Given the description of an element on the screen output the (x, y) to click on. 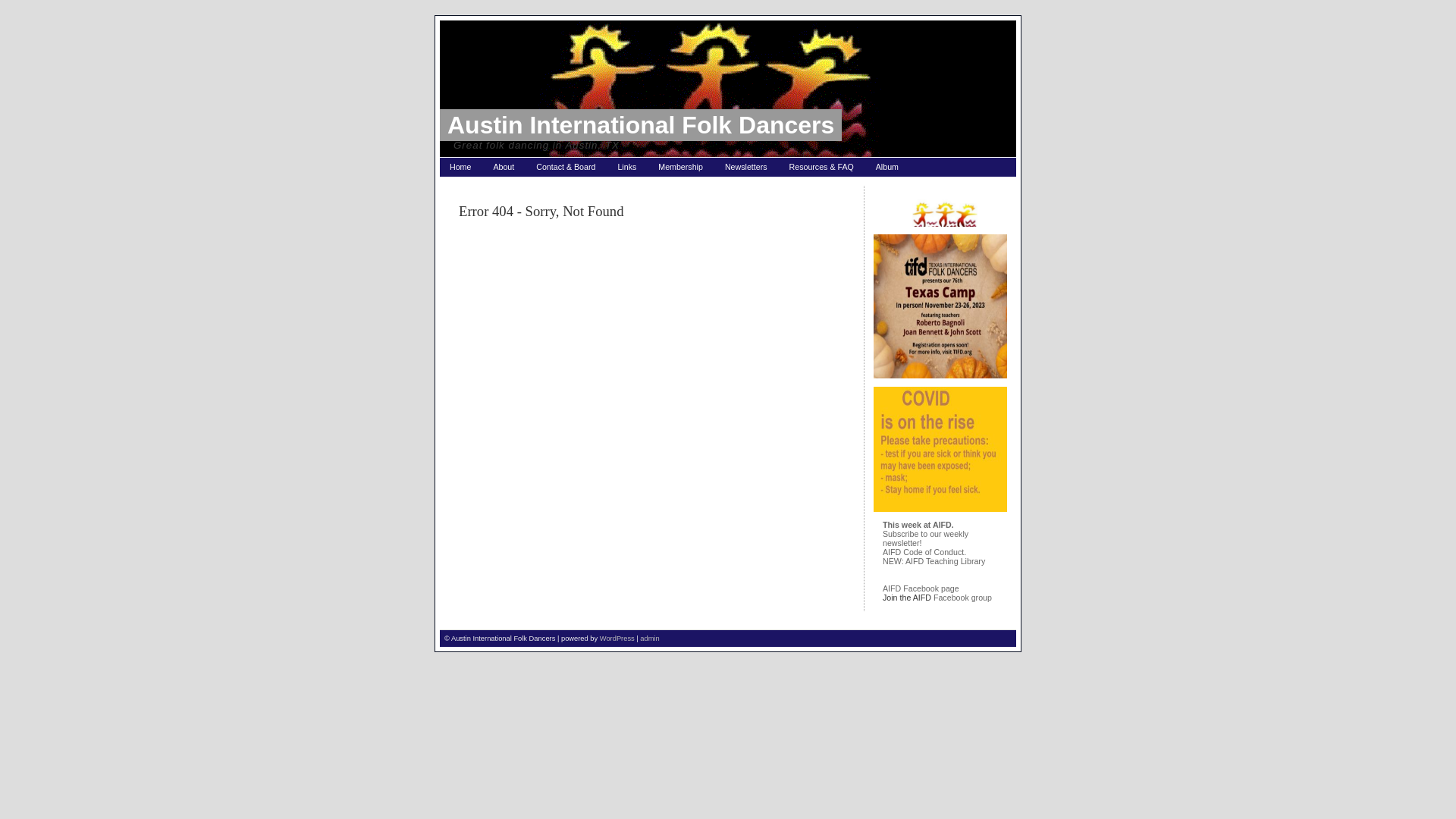
admin Element type: text (649, 638)
AIFD Facebook page Element type: text (920, 588)
Links Element type: text (626, 166)
Album Element type: text (887, 166)
Facebook group Element type: text (962, 597)
Resources & FAQ Element type: text (821, 166)
This week at AIFD. Element type: text (917, 524)
WordPress Element type: text (616, 638)
Subscribe to our weekly newsletter! Element type: text (925, 538)
About Element type: text (503, 166)
AIFD Code of Conduct. Element type: text (924, 551)
Austin International Folk Dancers Element type: text (640, 125)
Membership Element type: text (680, 166)
Newsletters Element type: text (746, 166)
Contact & Board Element type: text (565, 166)
Home Element type: text (459, 166)
NEW: AIFD Teaching Library Element type: text (933, 560)
